Given the description of an element on the screen output the (x, y) to click on. 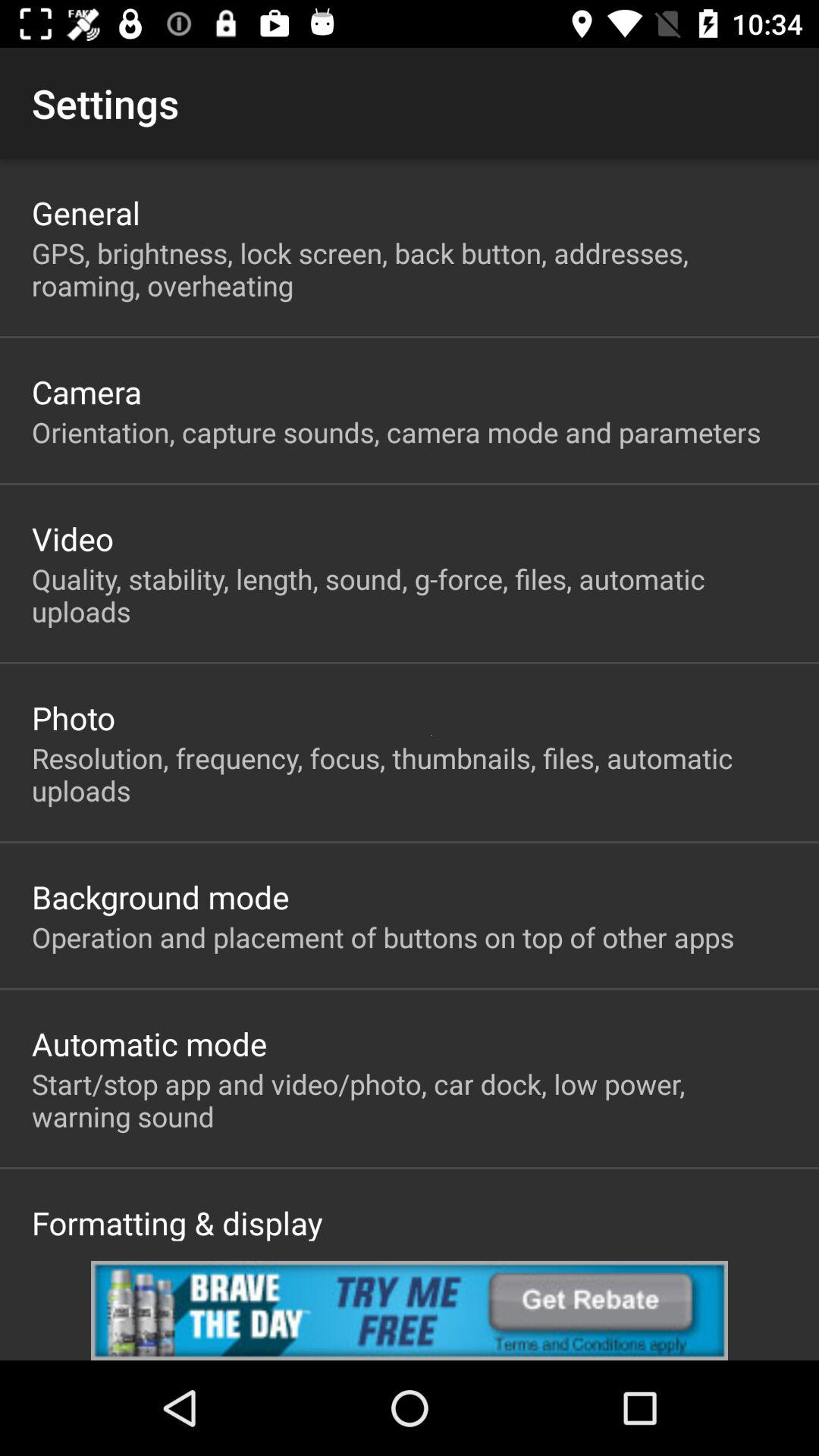
advertisement (409, 1310)
